Given the description of an element on the screen output the (x, y) to click on. 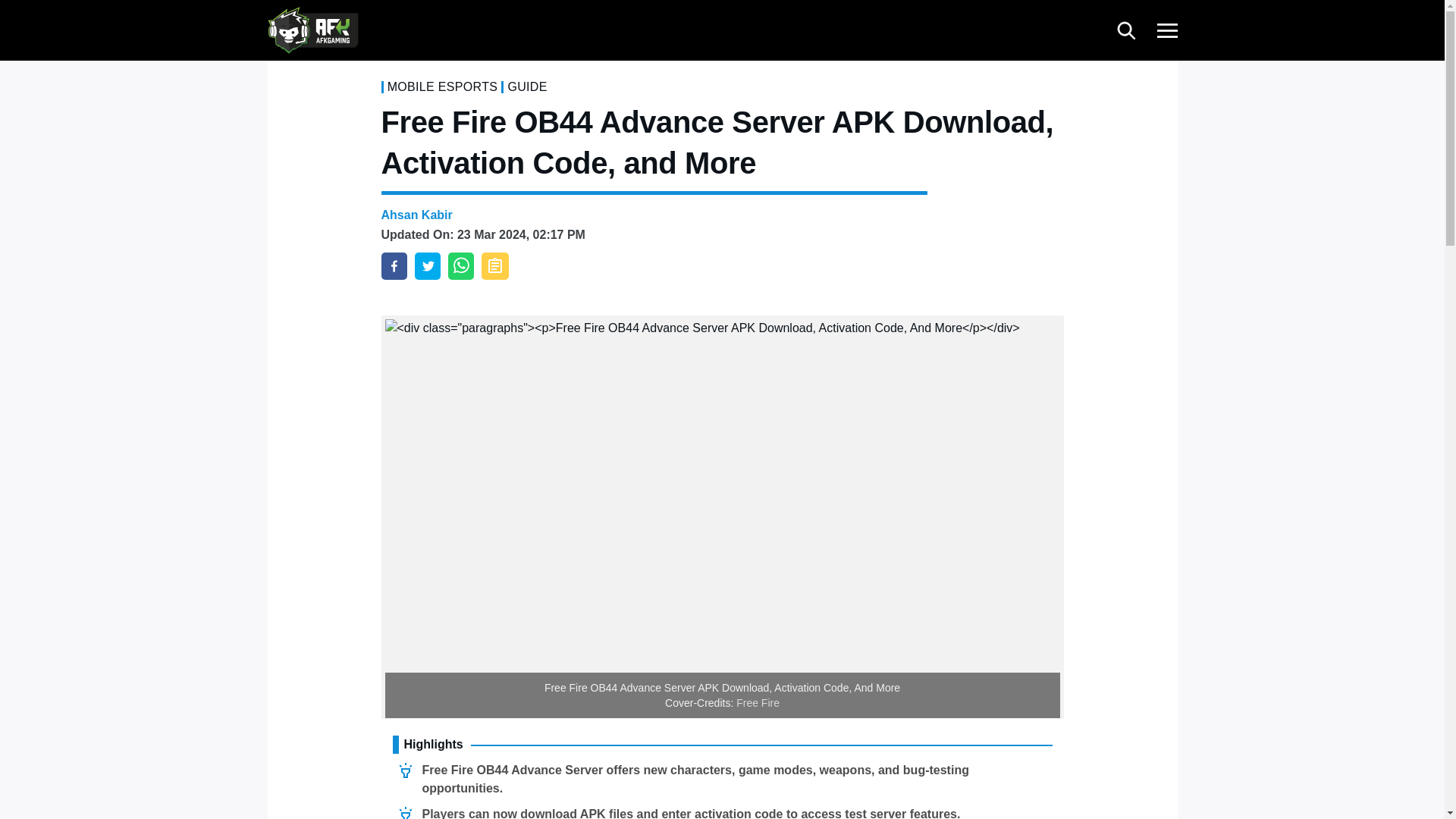
Free Fire (757, 702)
Ahsan Kabir (415, 214)
GUIDE (526, 87)
MOBILE ESPORTS (442, 87)
